Given the description of an element on the screen output the (x, y) to click on. 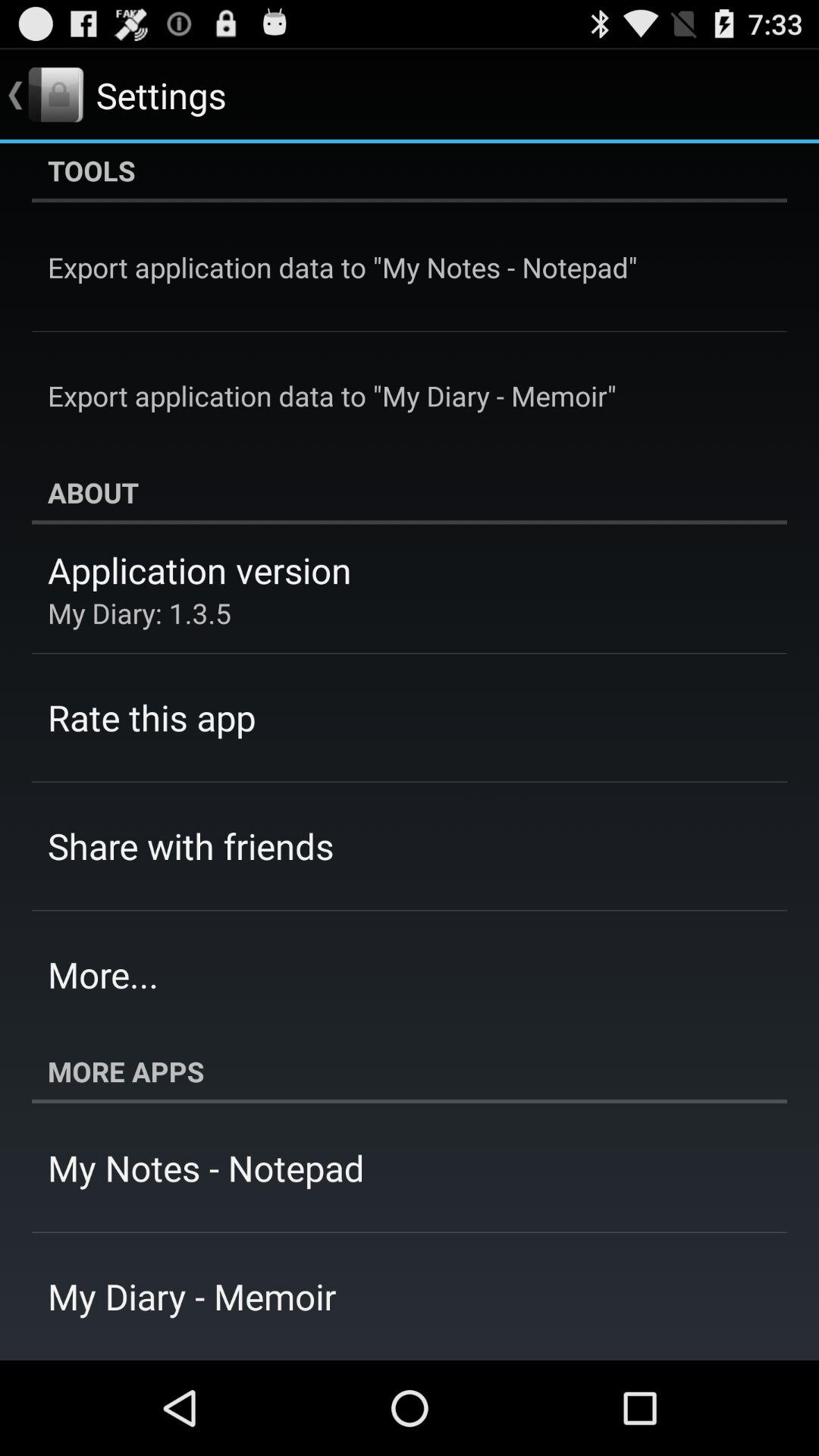
flip to application version app (199, 570)
